Given the description of an element on the screen output the (x, y) to click on. 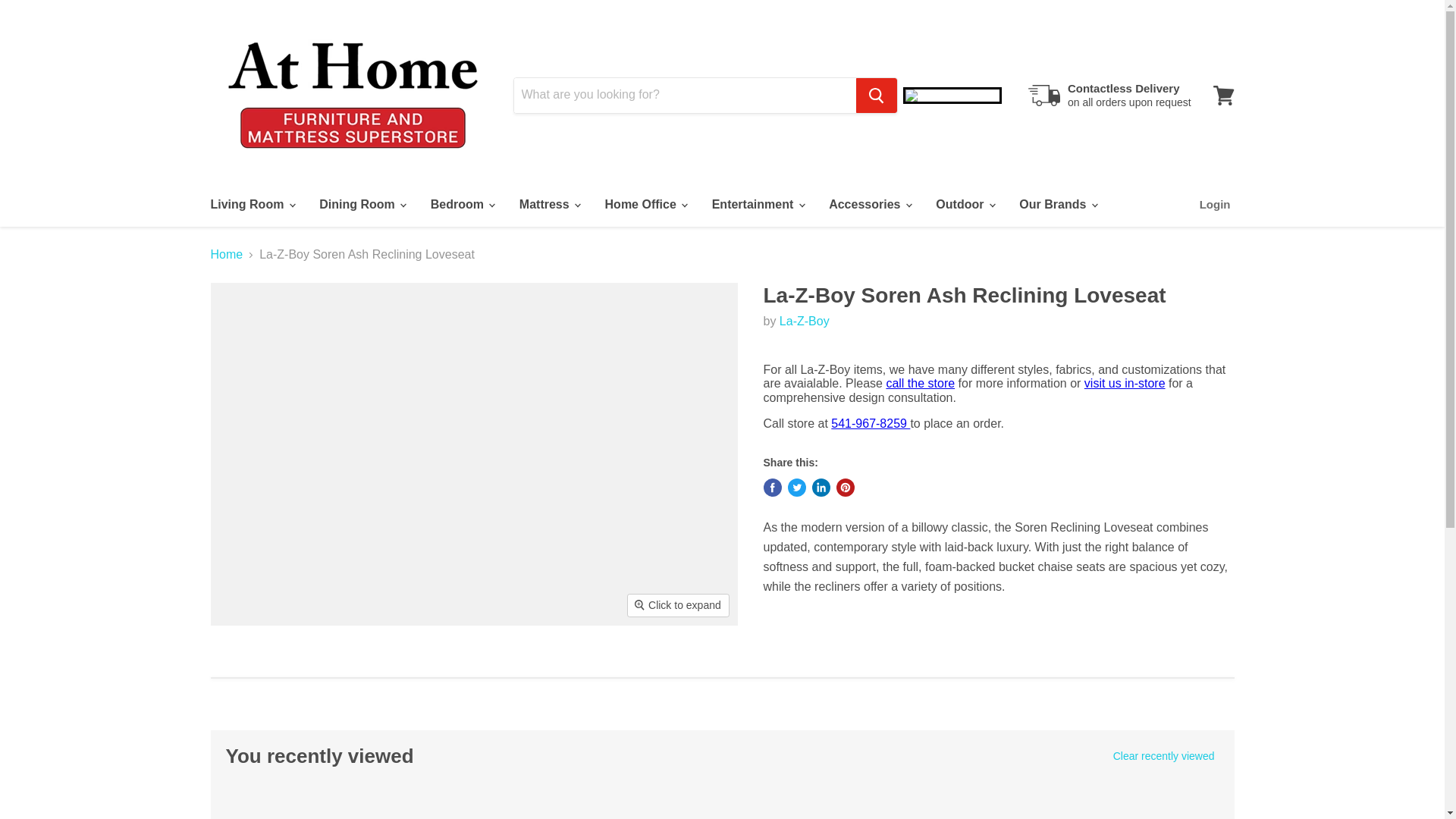
Bedroom (462, 204)
Dining Room (360, 204)
La-Z-Boy (803, 320)
Living Room (251, 204)
View cart (1223, 94)
